Given the description of an element on the screen output the (x, y) to click on. 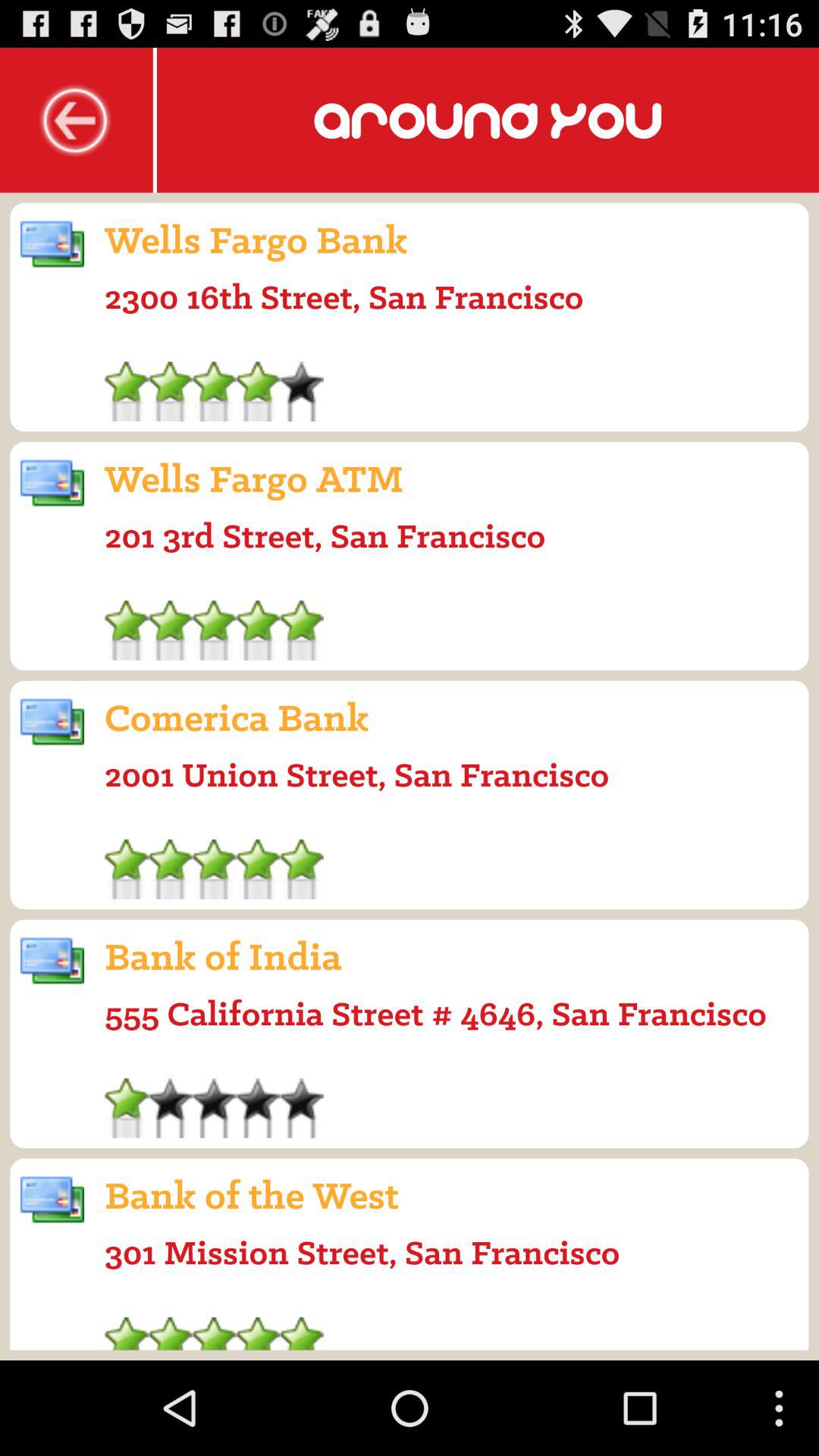
click app below comerica bank icon (356, 774)
